Given the description of an element on the screen output the (x, y) to click on. 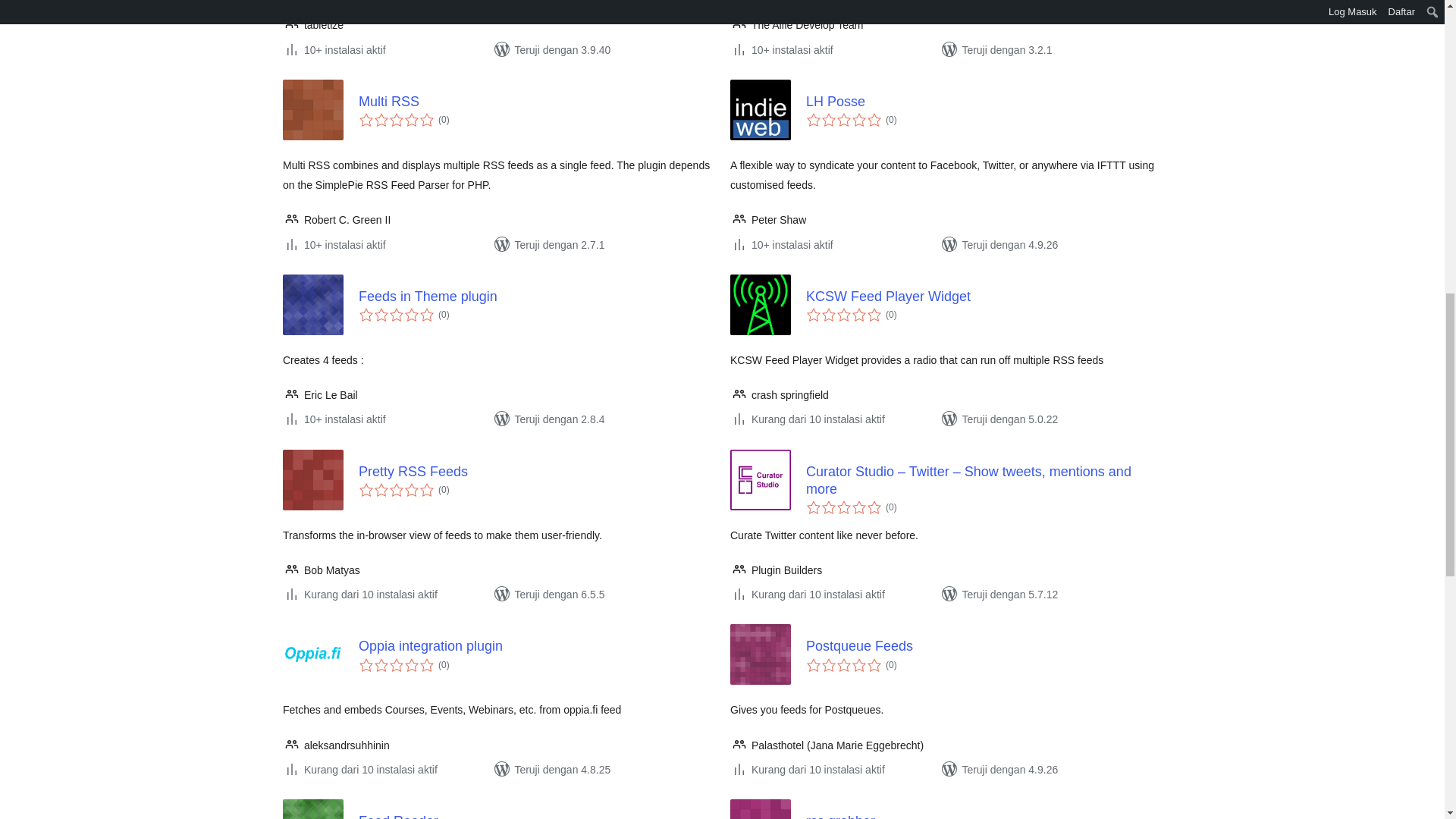
Feeds in Theme plugin (536, 296)
KCSW Feed Player Widget (983, 296)
LH Posse (983, 101)
Multi RSS (536, 101)
